Given the description of an element on the screen output the (x, y) to click on. 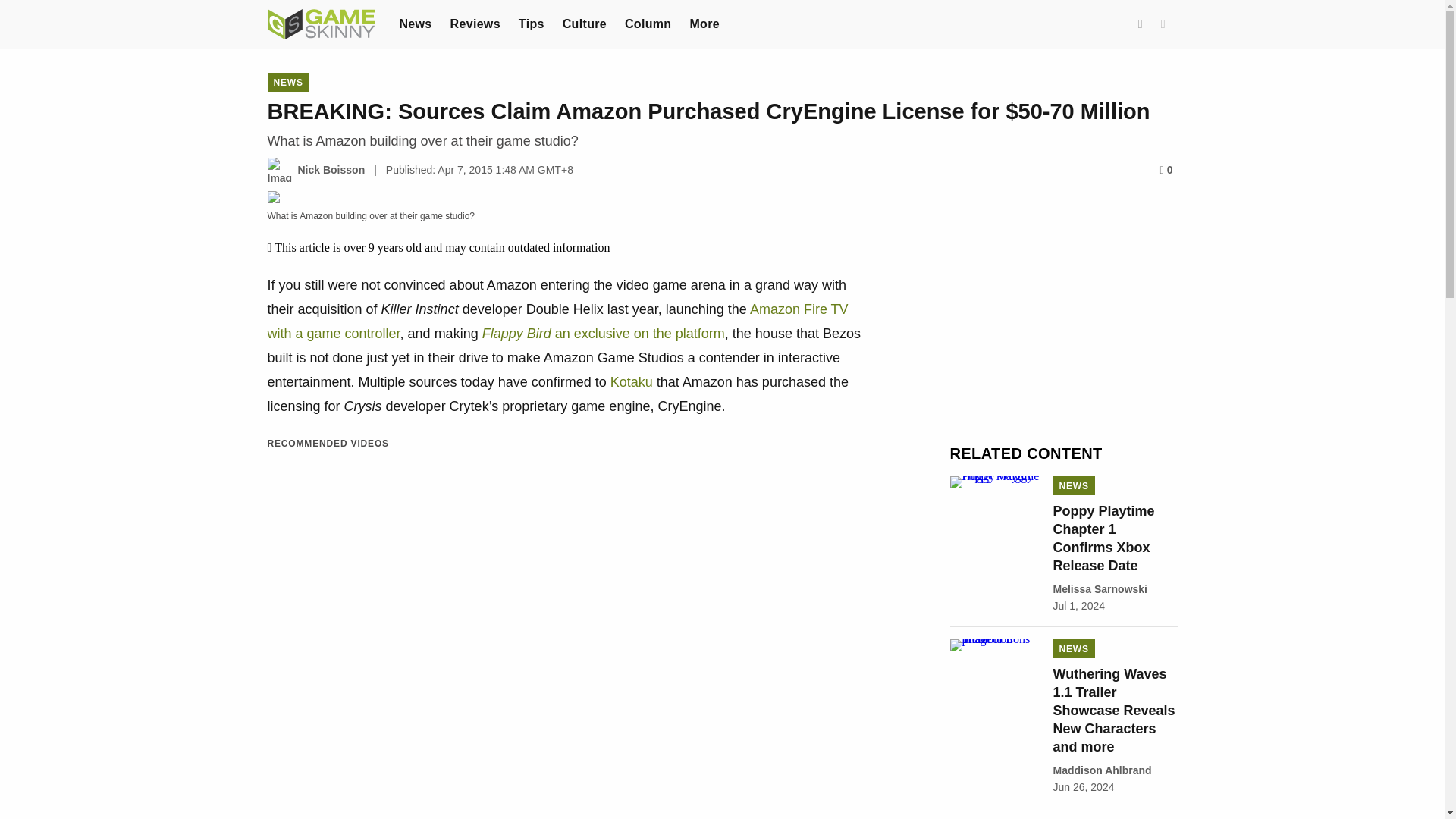
Tips (531, 23)
News (414, 23)
Column (647, 23)
Reviews (474, 23)
Sources: Amazon Spent Big Bucks On Crytek's Engine (631, 381)
Culture (584, 23)
